Given the description of an element on the screen output the (x, y) to click on. 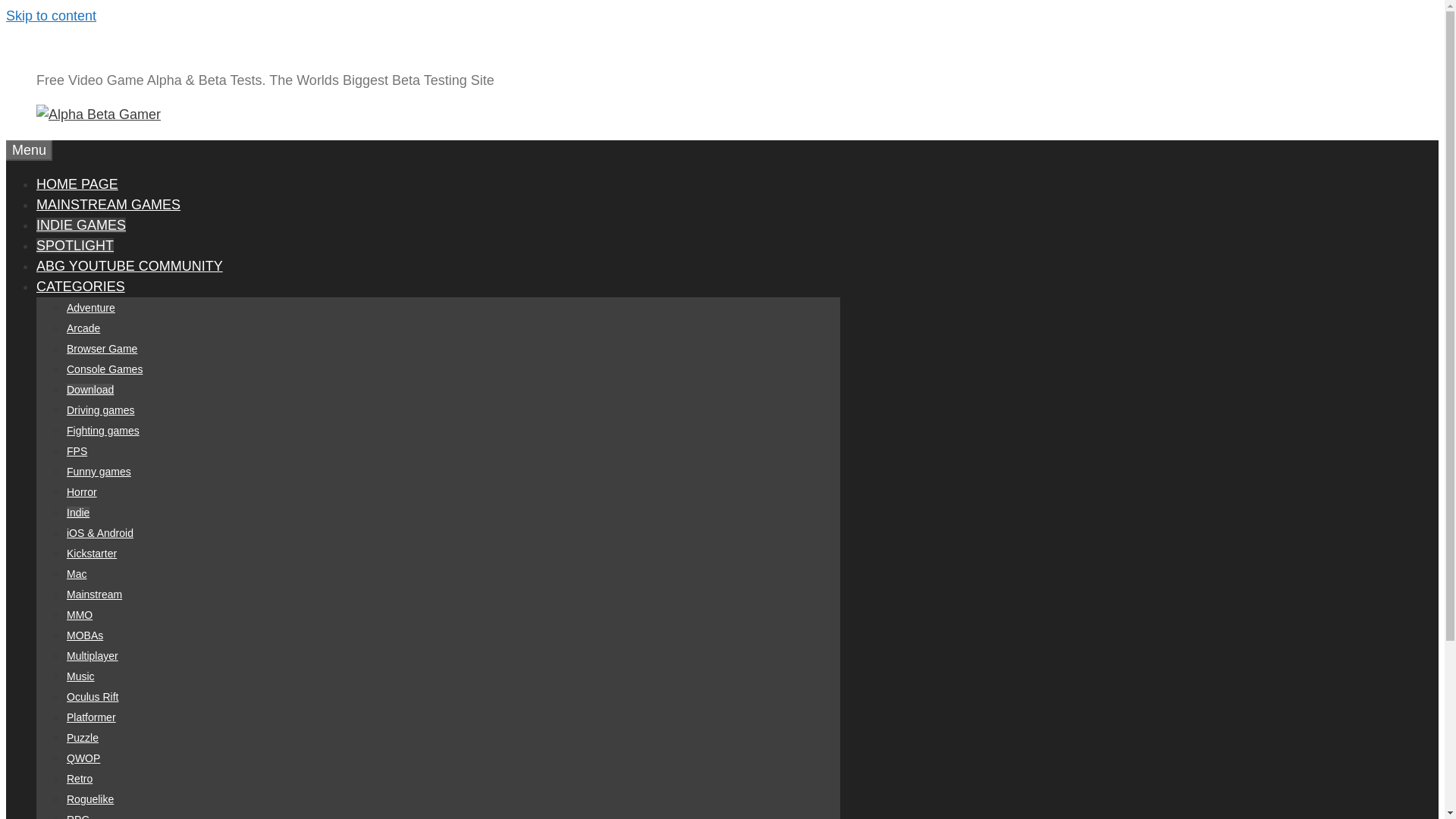
Multiplayer (91, 655)
Driving games (99, 410)
Indie (77, 512)
Platformer (91, 717)
Oculus Rift (91, 696)
Menu (28, 150)
MMO (79, 614)
Skip to content (50, 15)
Skip to content (50, 15)
Arcade (83, 328)
QWOP (83, 758)
Roguelike (89, 799)
FPS (76, 451)
Puzzle (82, 737)
Music (80, 676)
